Given the description of an element on the screen output the (x, y) to click on. 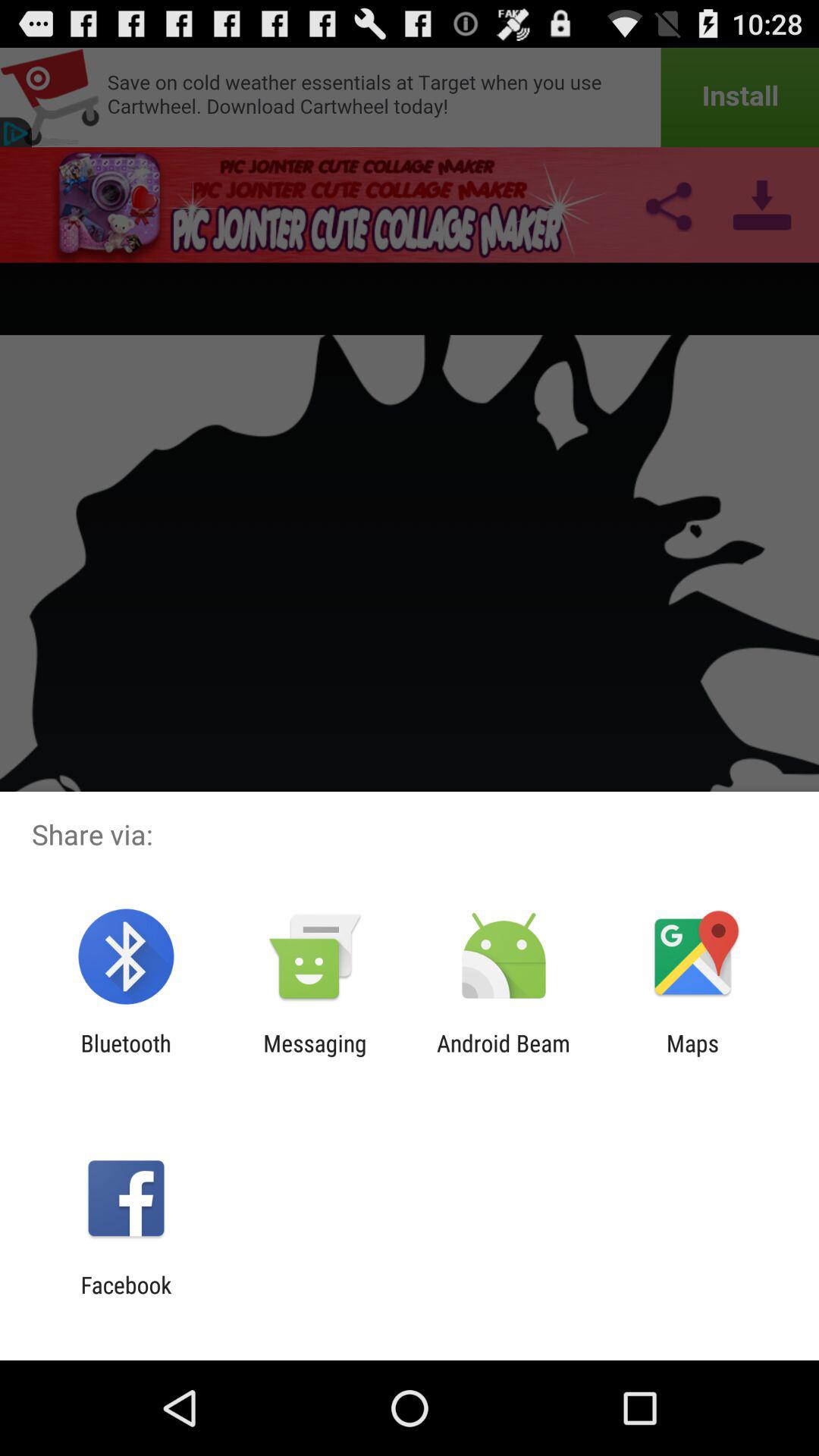
launch maps (692, 1056)
